Given the description of an element on the screen output the (x, y) to click on. 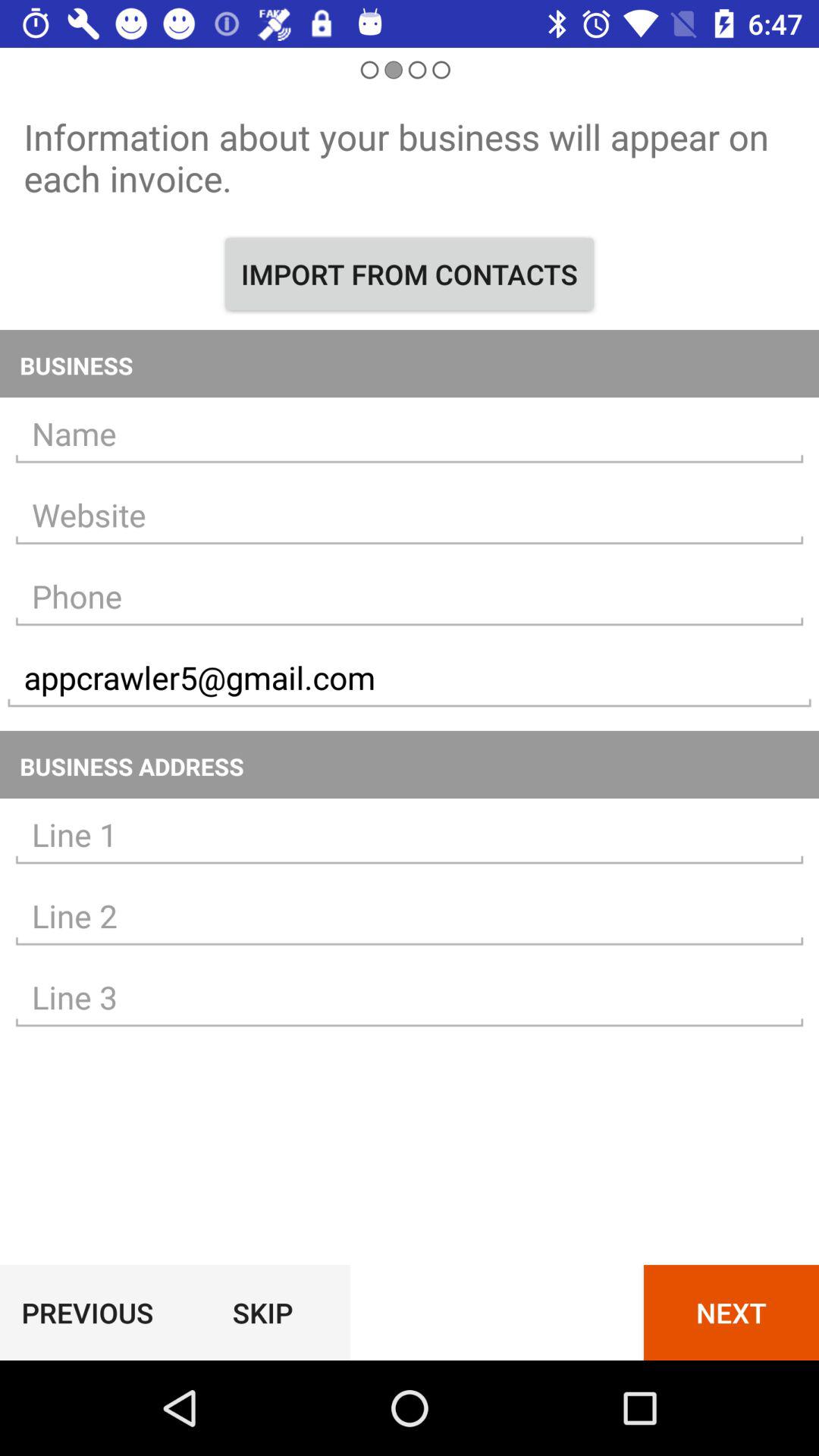
open item above appcrawler5@gmail.com (409, 596)
